Given the description of an element on the screen output the (x, y) to click on. 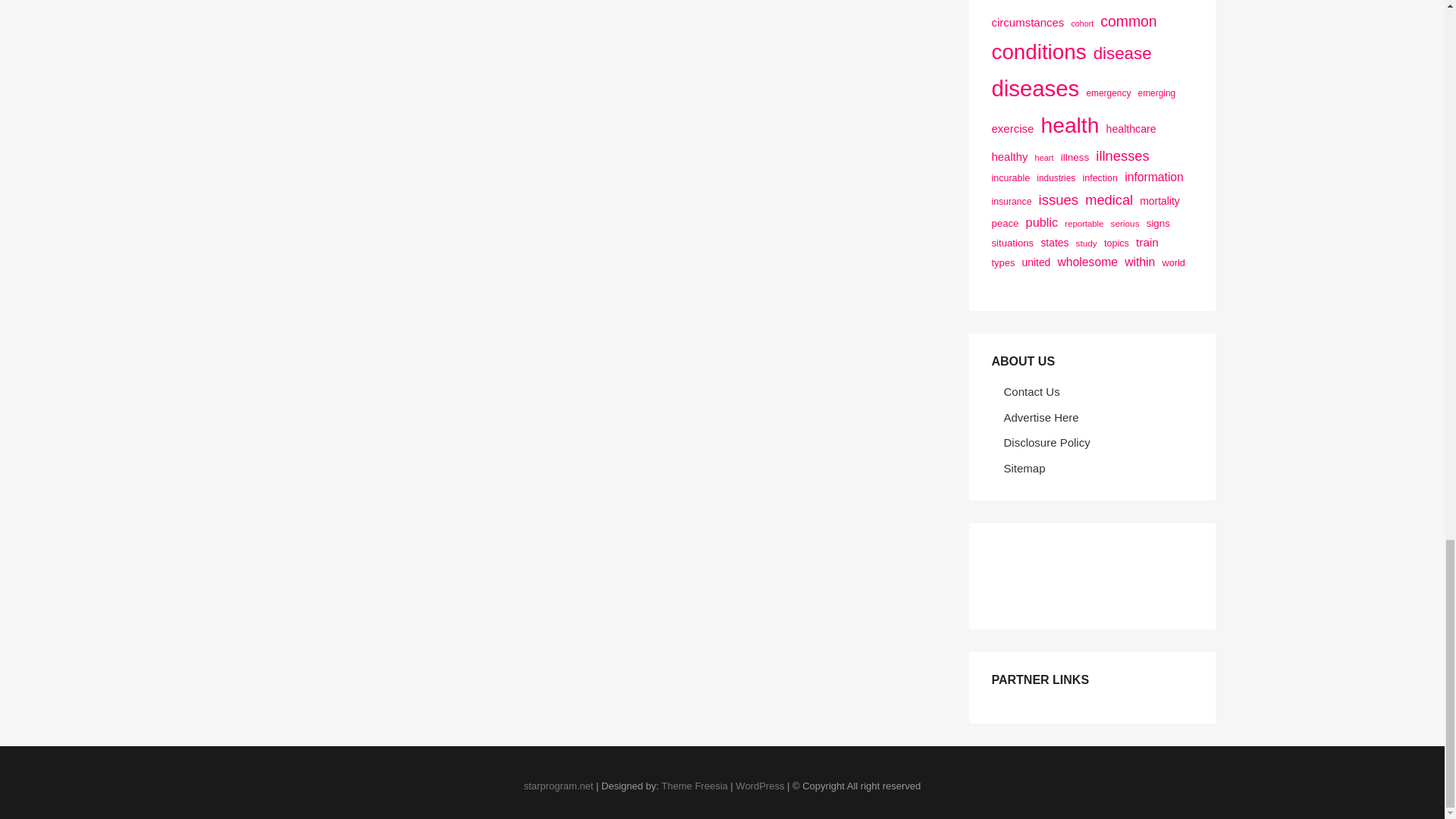
starprogram.net (559, 785)
Theme Freesia (693, 785)
WordPress (759, 785)
